Given the description of an element on the screen output the (x, y) to click on. 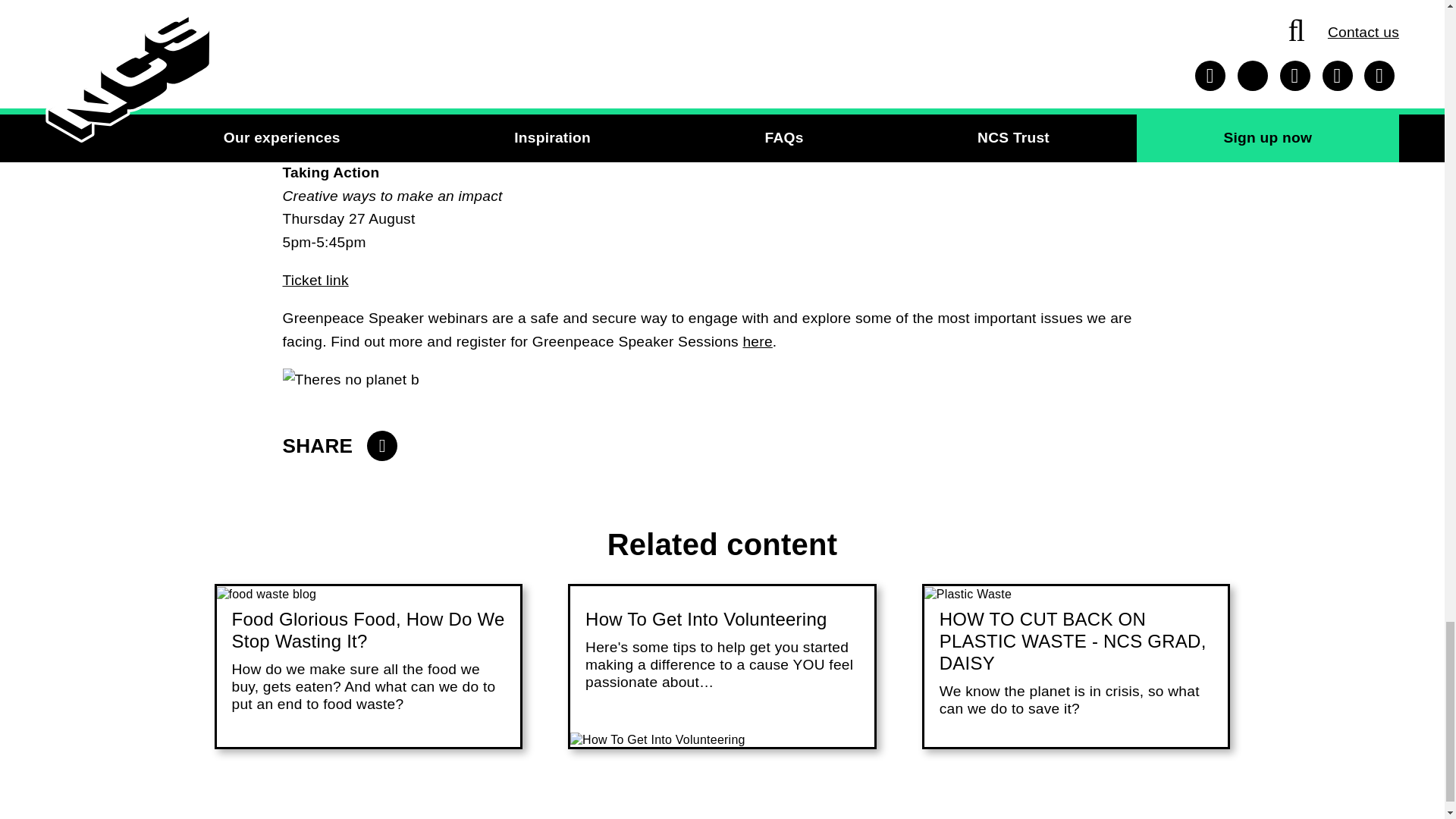
Ticket link (314, 279)
Food Glorious Food, How Do We Stop Wasting It? (368, 630)
Ticket link (314, 134)
here (756, 341)
Share to Facebook (381, 445)
